Given the description of an element on the screen output the (x, y) to click on. 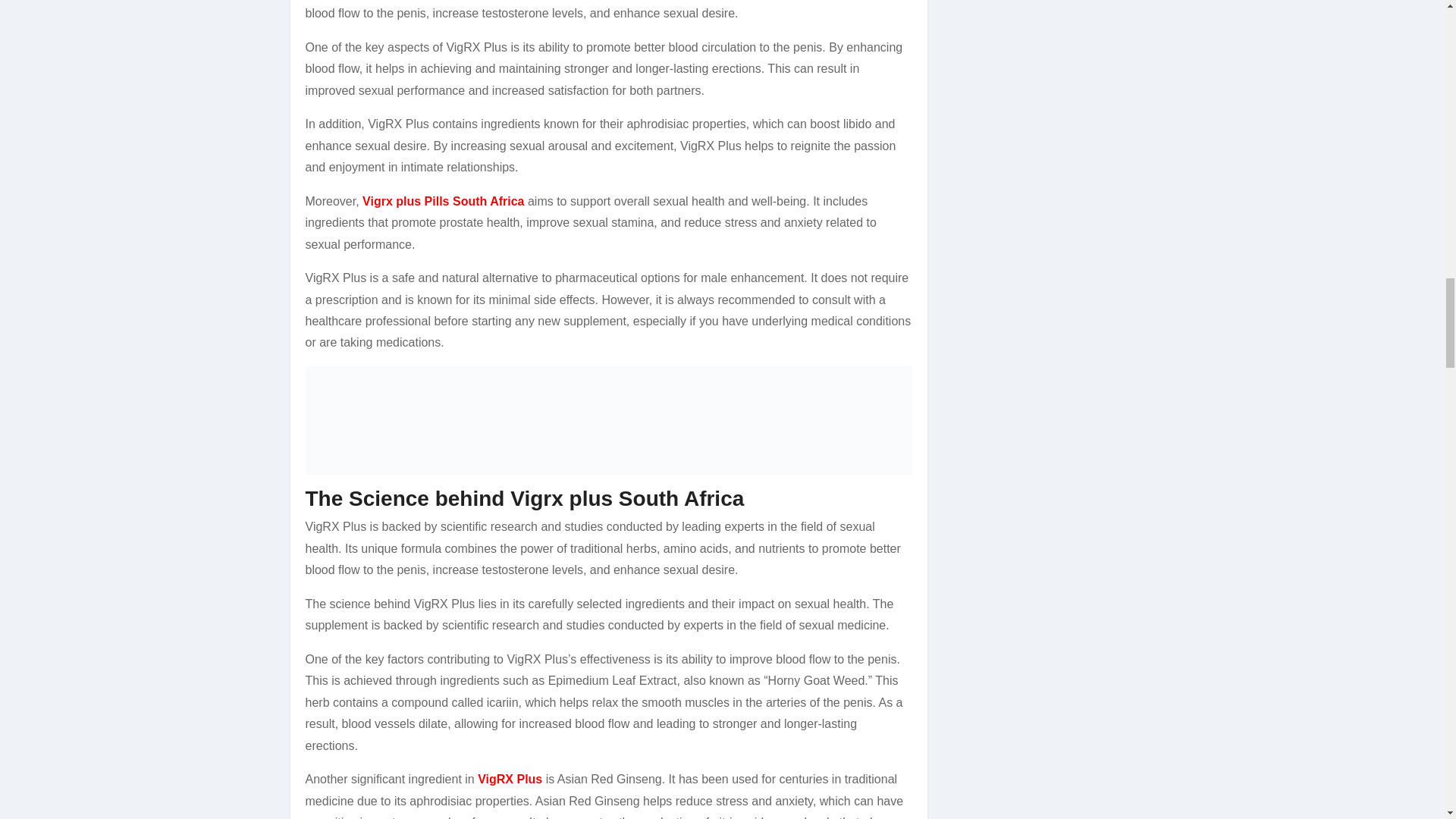
Vigrx plus Pills South Africa (443, 201)
VigRX Plus (509, 779)
